Given the description of an element on the screen output the (x, y) to click on. 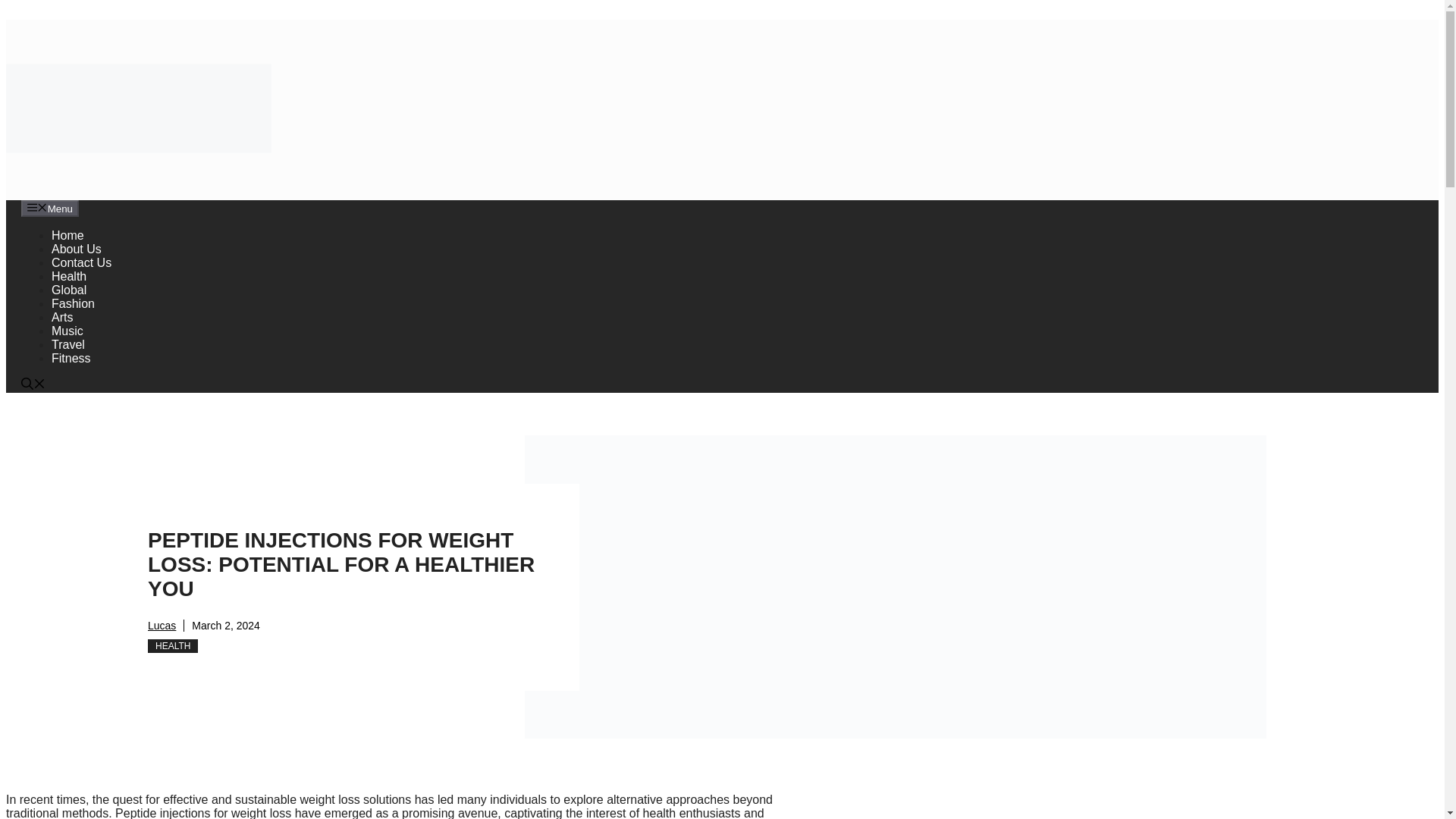
Arts (61, 317)
Menu (49, 208)
Fashion (72, 303)
Skip to content (45, 11)
Home (67, 235)
Lucas (162, 625)
Travel (67, 344)
Music (66, 330)
Skip to content (45, 11)
About Us (75, 248)
